Given the description of an element on the screen output the (x, y) to click on. 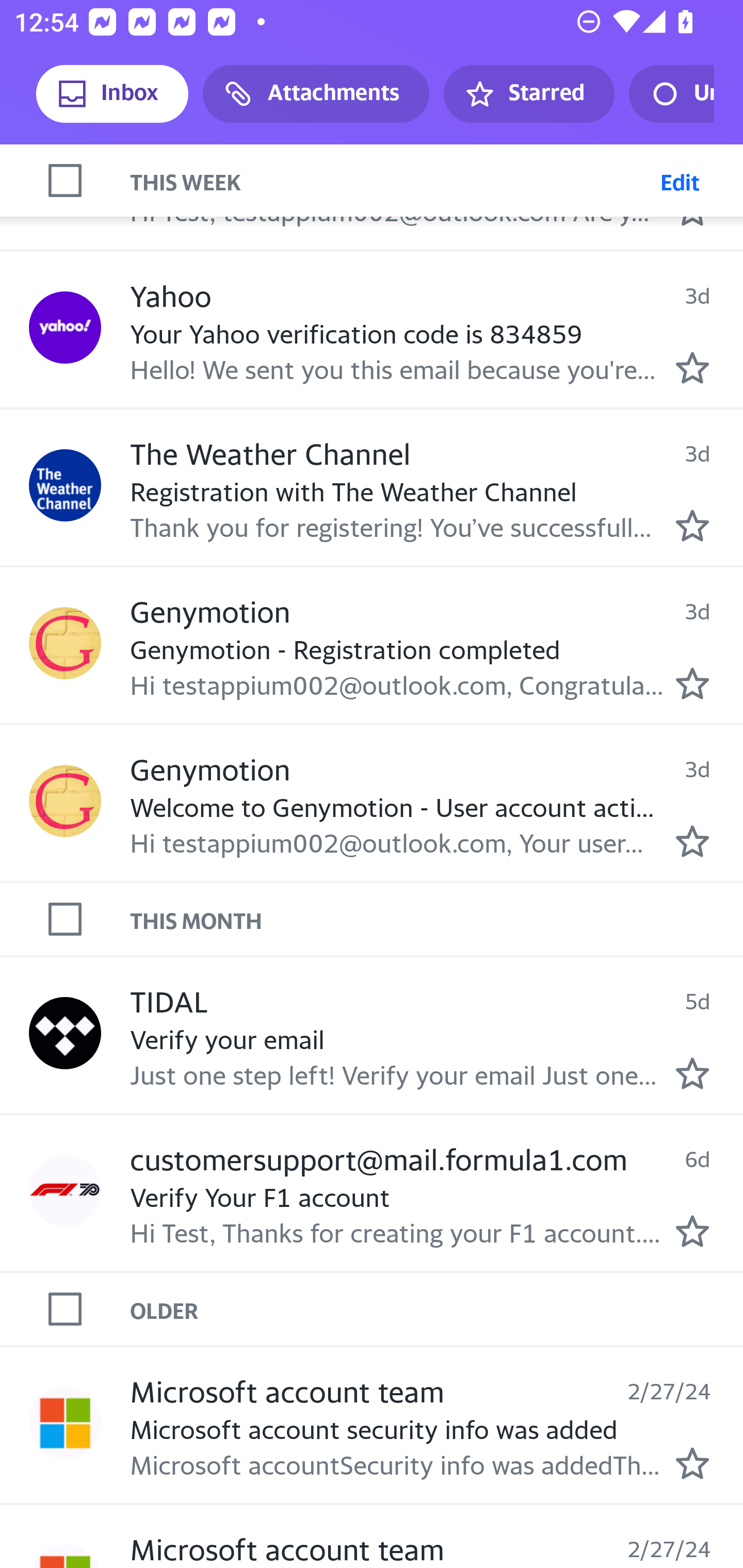
Attachments (315, 93)
Starred (528, 93)
Profile
Yahoo (64, 174)
Profile
Yahoo (64, 327)
Mark as starred. (692, 367)
Profile
The Weather Channel (64, 486)
Mark as starred. (692, 526)
Profile
Genymotion (64, 642)
Mark as starred. (692, 682)
Profile
Genymotion (64, 801)
Mark as starred. (692, 841)
THIS MONTH (436, 919)
Profile
TIDAL (64, 1033)
Mark as starred. (692, 1073)
Profile
customersupport@mail.formula1.com (64, 1191)
Mark as starred. (692, 1231)
OLDER (436, 1308)
Profile
Microsoft account team (64, 1423)
Mark as starred. (692, 1463)
